Given the description of an element on the screen output the (x, y) to click on. 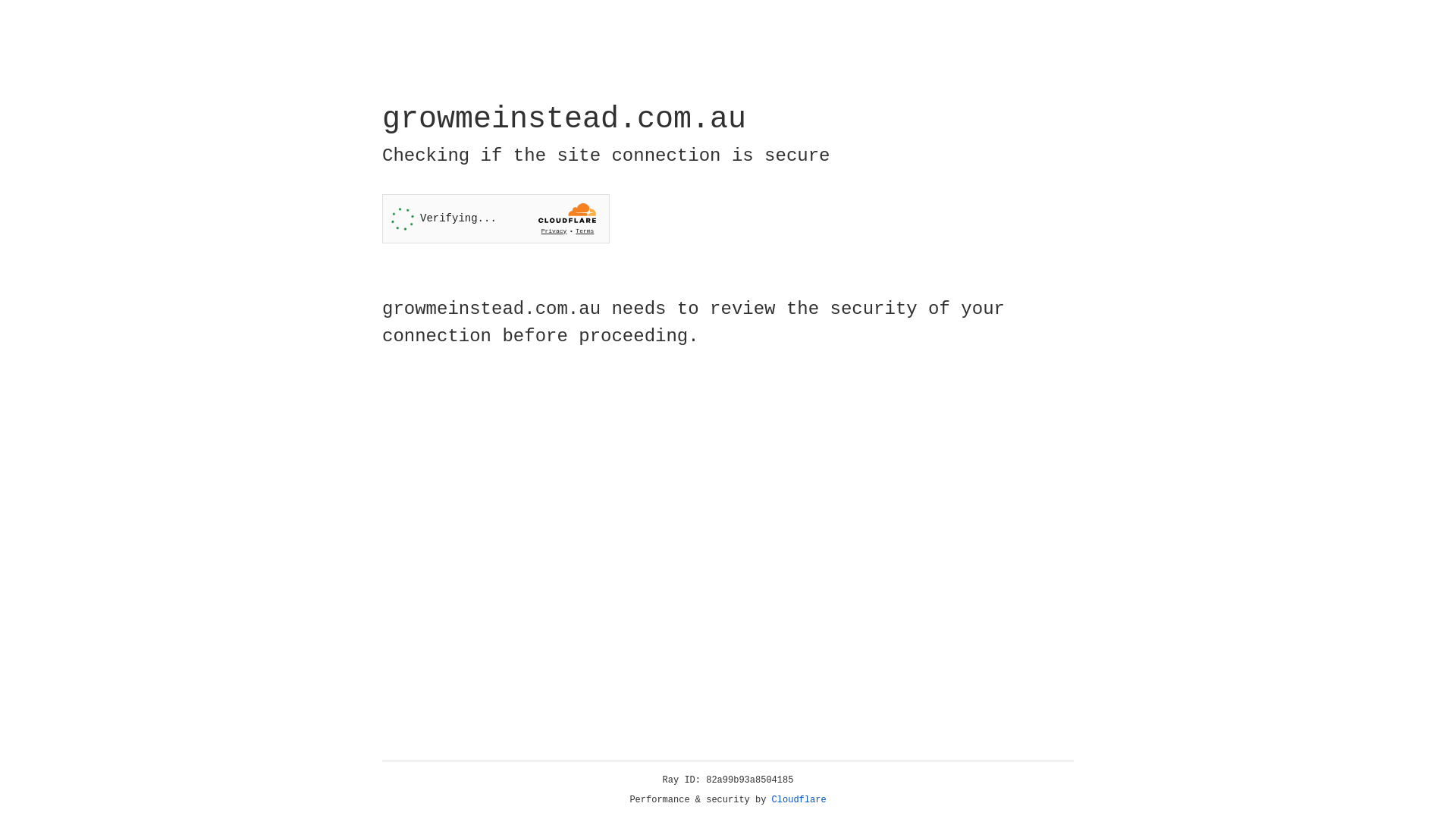
Widget containing a Cloudflare security challenge Element type: hover (495, 218)
Cloudflare Element type: text (798, 799)
